Given the description of an element on the screen output the (x, y) to click on. 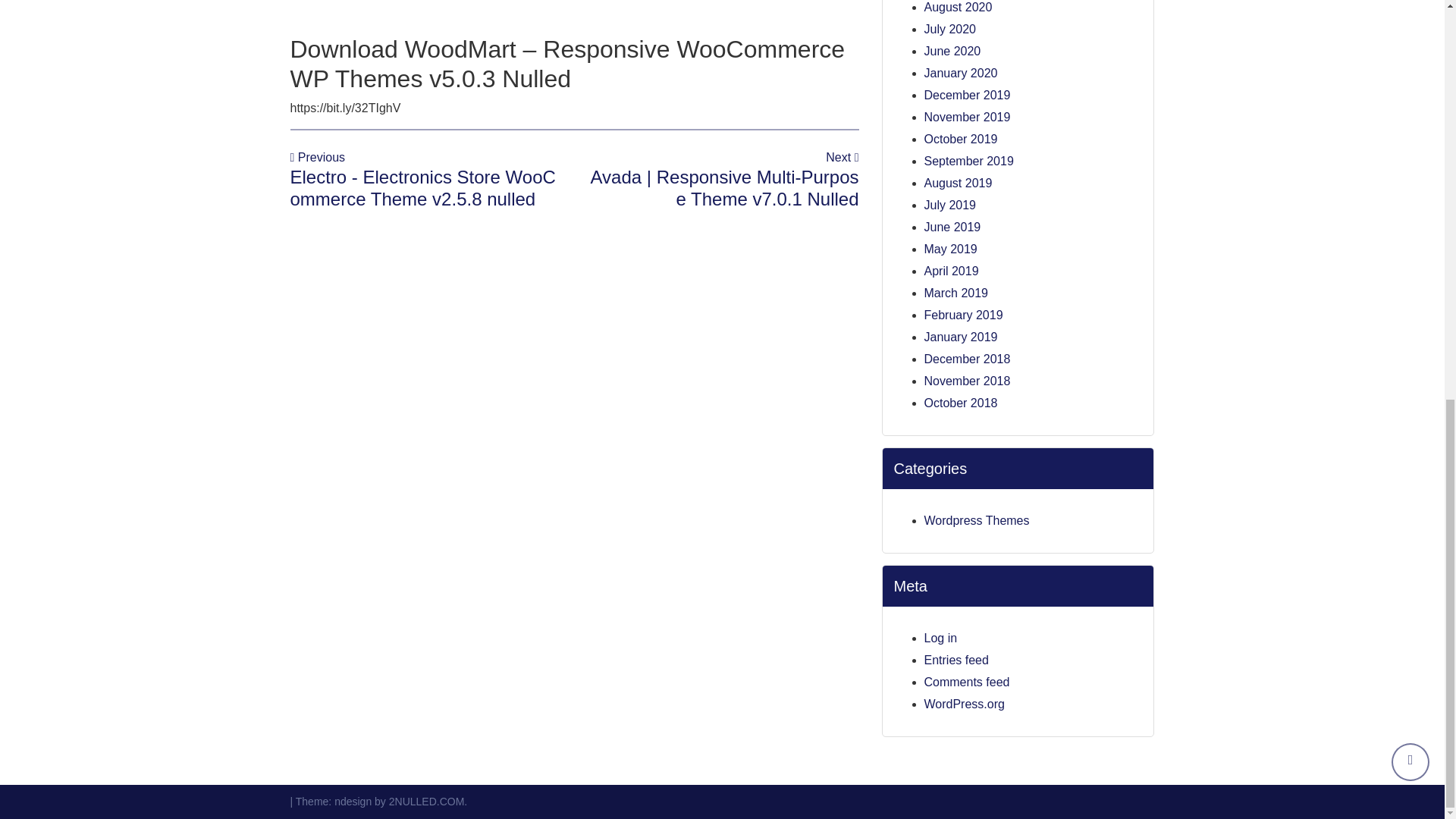
June 2020 (951, 51)
October 2019 (960, 138)
April 2019 (950, 270)
January 2019 (960, 336)
March 2019 (955, 292)
Electro - Electronics Store WooCommerce Theme v2.5.8 nulled (421, 188)
July 2019 (949, 205)
November 2019 (966, 116)
December 2019 (966, 94)
August 2019 (957, 182)
August 2020 (957, 6)
May 2019 (949, 248)
November 2018 (966, 380)
Next (842, 156)
June 2019 (951, 226)
